Given the description of an element on the screen output the (x, y) to click on. 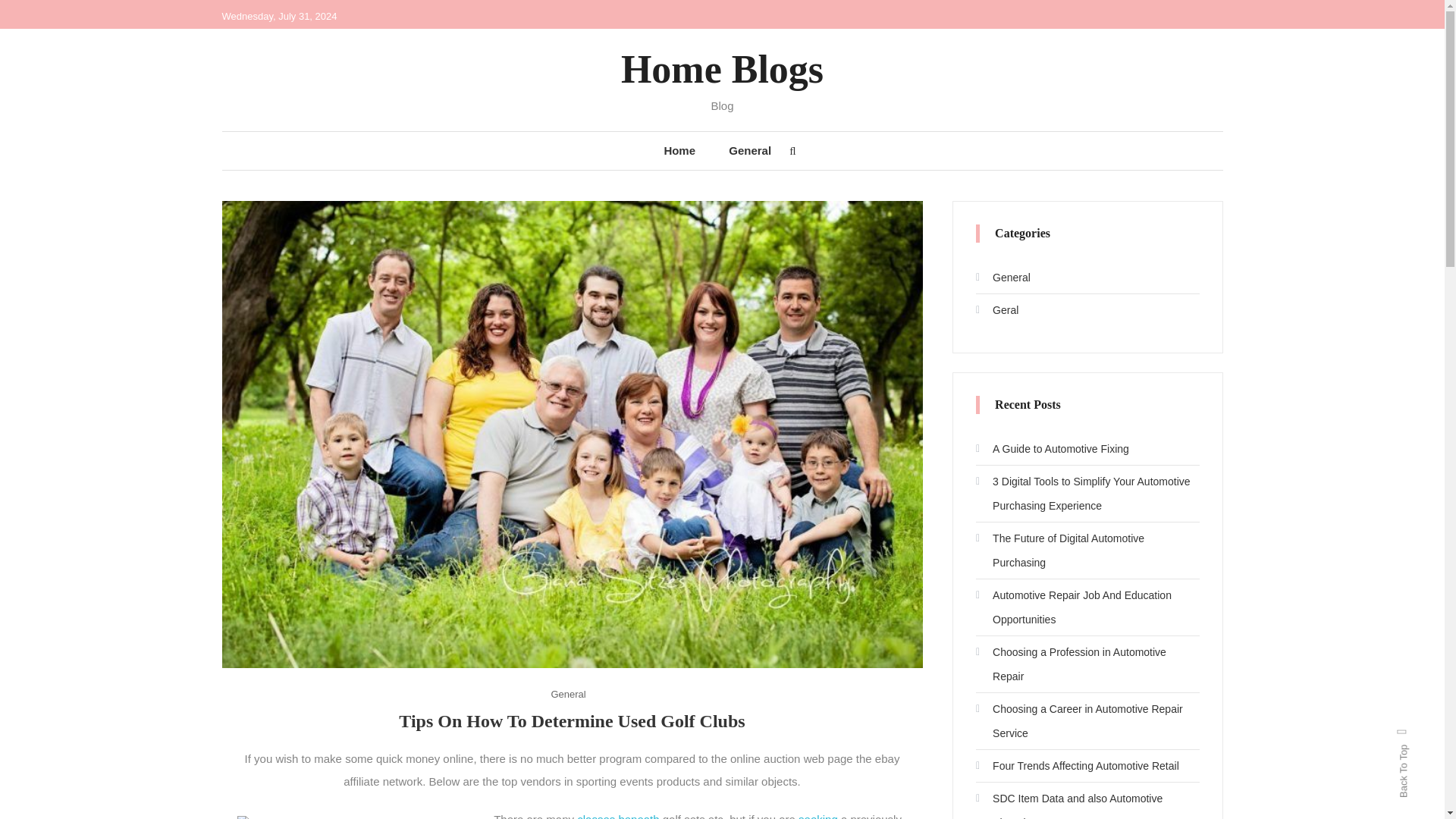
General (749, 150)
Automotive Repair Job And Education Opportunities (1086, 607)
Choosing a Profession in Automotive Repair (1086, 663)
Four Trends Affecting Automotive Retail (1077, 765)
SDC Item Data and also Automotive Shopping (1086, 802)
General (1002, 277)
Home (678, 150)
seeking (817, 816)
The Future of Digital Automotive Purchasing (1086, 550)
Geral (996, 310)
classes beneath (617, 816)
Home Blogs (722, 68)
General (567, 693)
Choosing a Career in Automotive Repair Service (1086, 720)
